Given the description of an element on the screen output the (x, y) to click on. 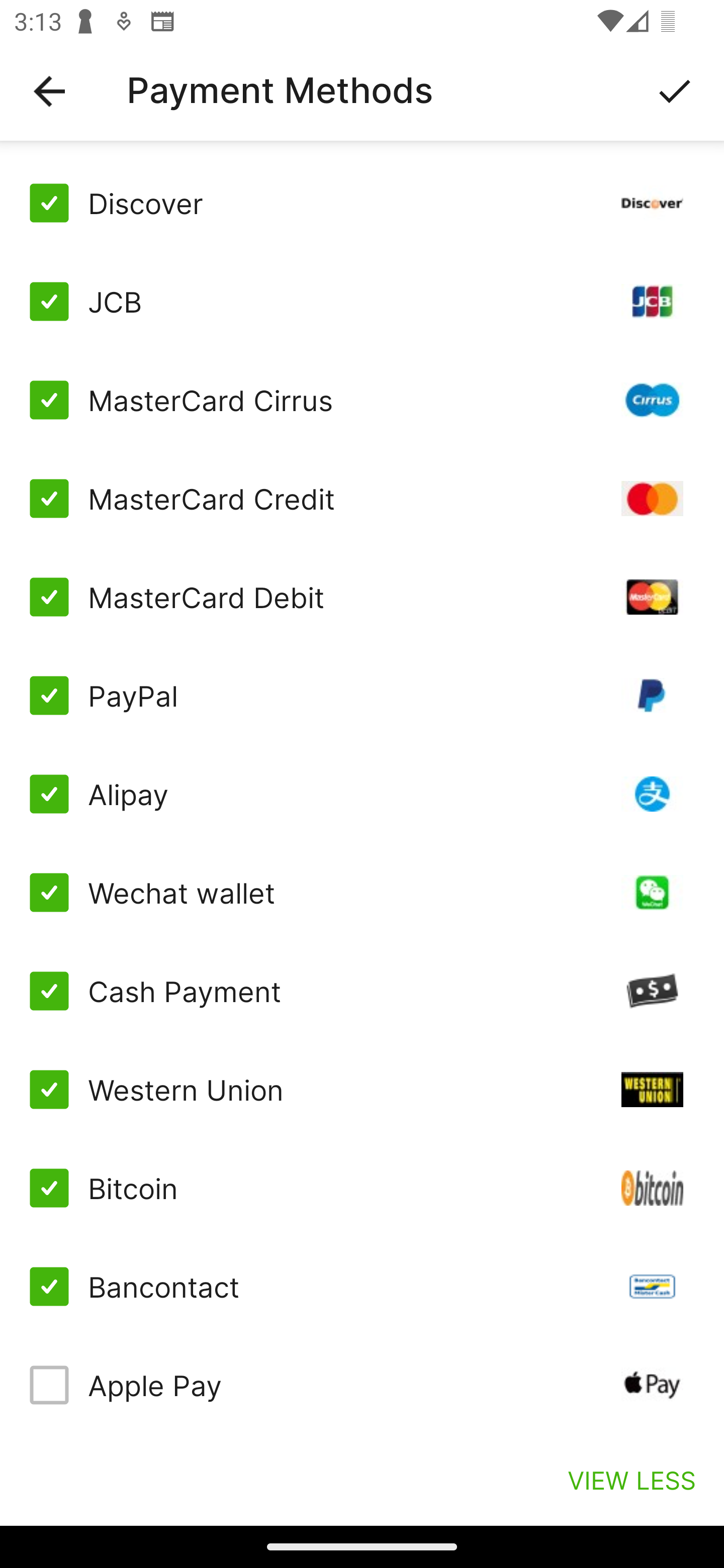
Discover (362, 202)
JCB (362, 301)
MasterCard Cirrus (362, 400)
MasterCard Credit (362, 498)
MasterCard Debit (362, 596)
PayPal (362, 695)
Alipay (362, 793)
Wechat wallet (362, 892)
Cash Payment (362, 990)
Western Union (362, 1088)
Bitcoin (362, 1187)
Bancontact (362, 1286)
Apple Pay (362, 1384)
VIEW LESS (631, 1479)
